Given the description of an element on the screen output the (x, y) to click on. 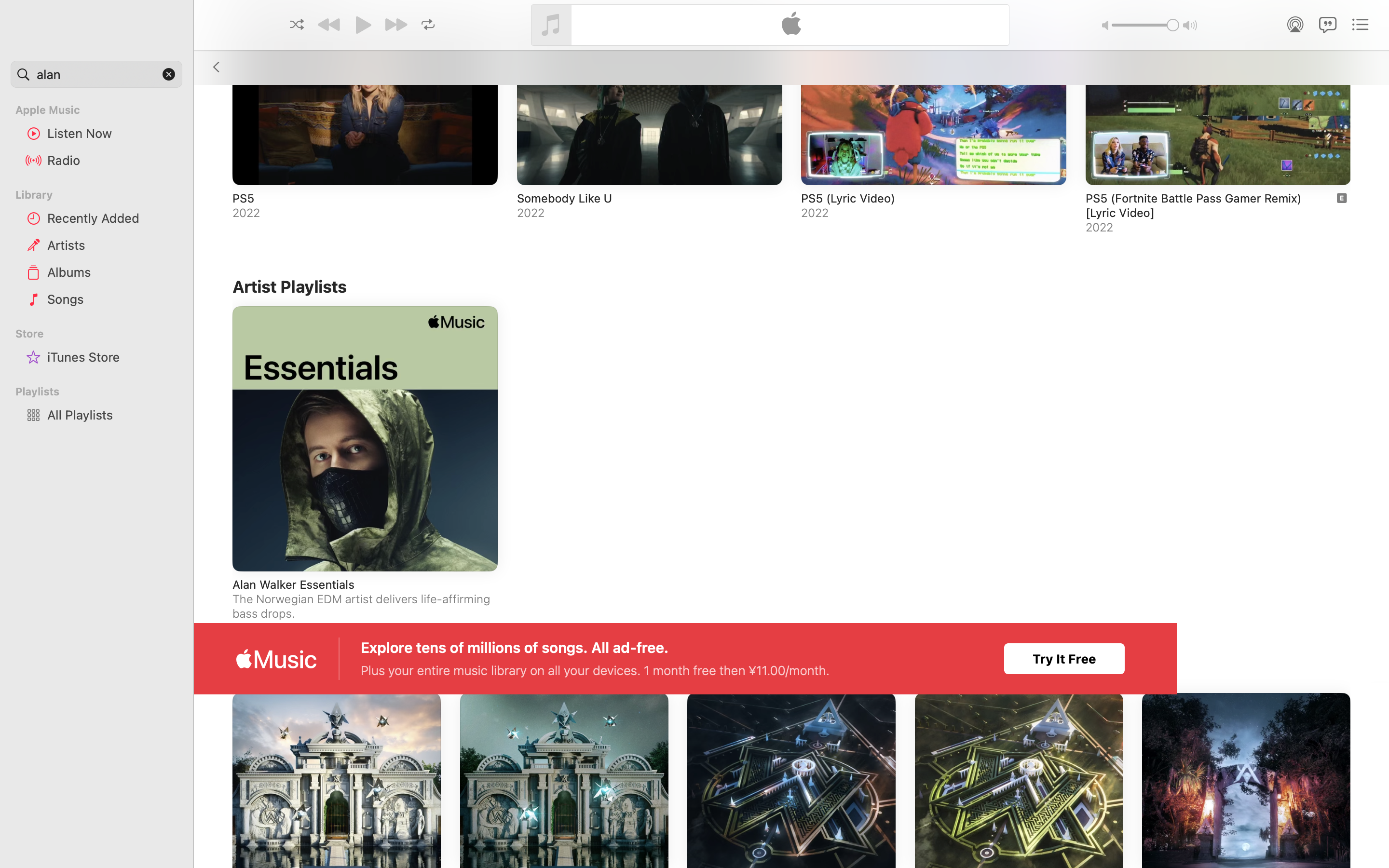
Radio Element type: AXStaticText (111, 159)
Library Element type: AXStaticText (95, 194)
Plus your entire music library on all your devices. 1 month free then ¥11.00/month. Element type: AXStaticText (595, 670)
All Playlists Element type: AXStaticText (111, 414)
